Given the description of an element on the screen output the (x, y) to click on. 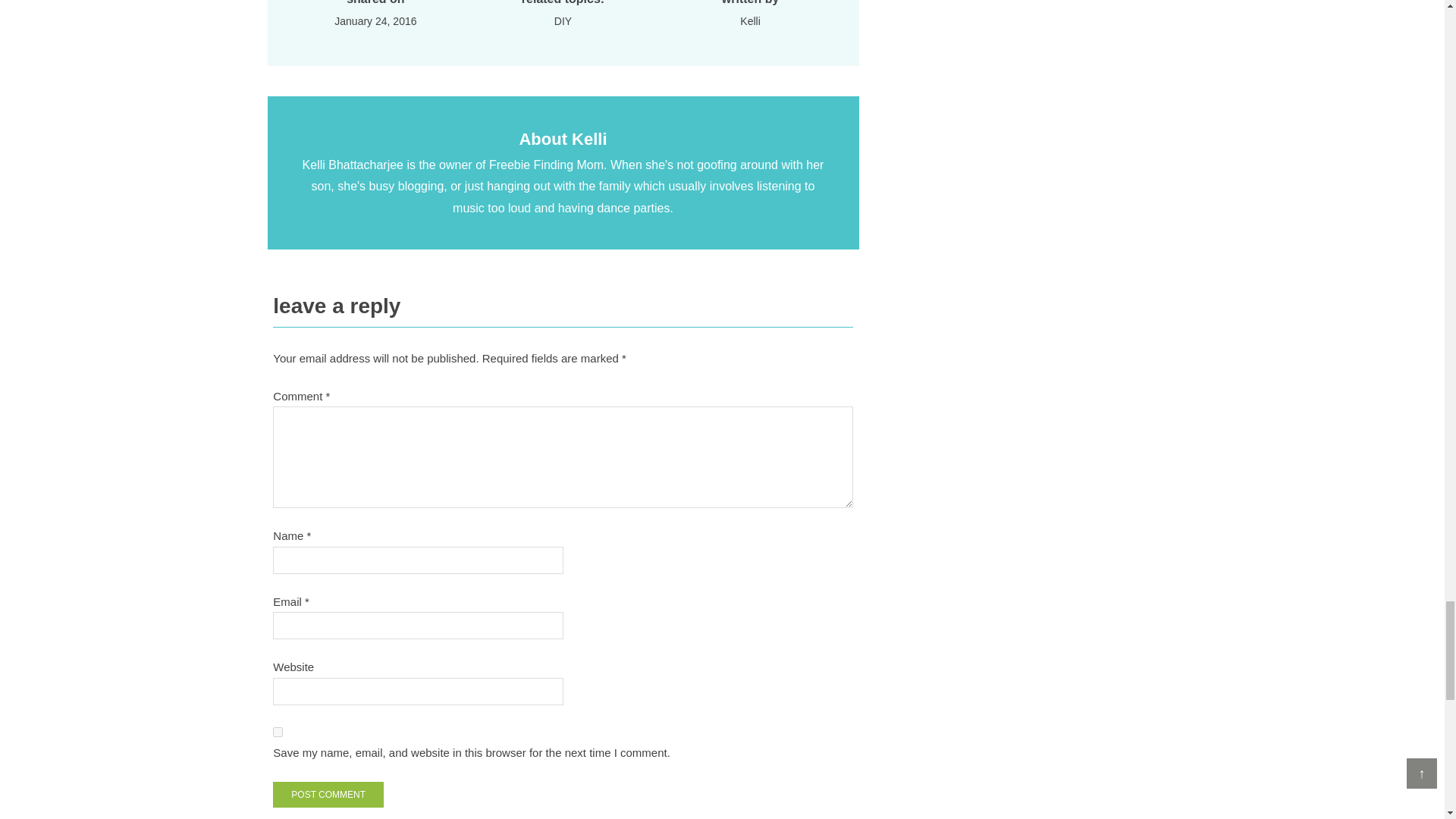
Post Comment (328, 794)
yes (277, 732)
